Given the description of an element on the screen output the (x, y) to click on. 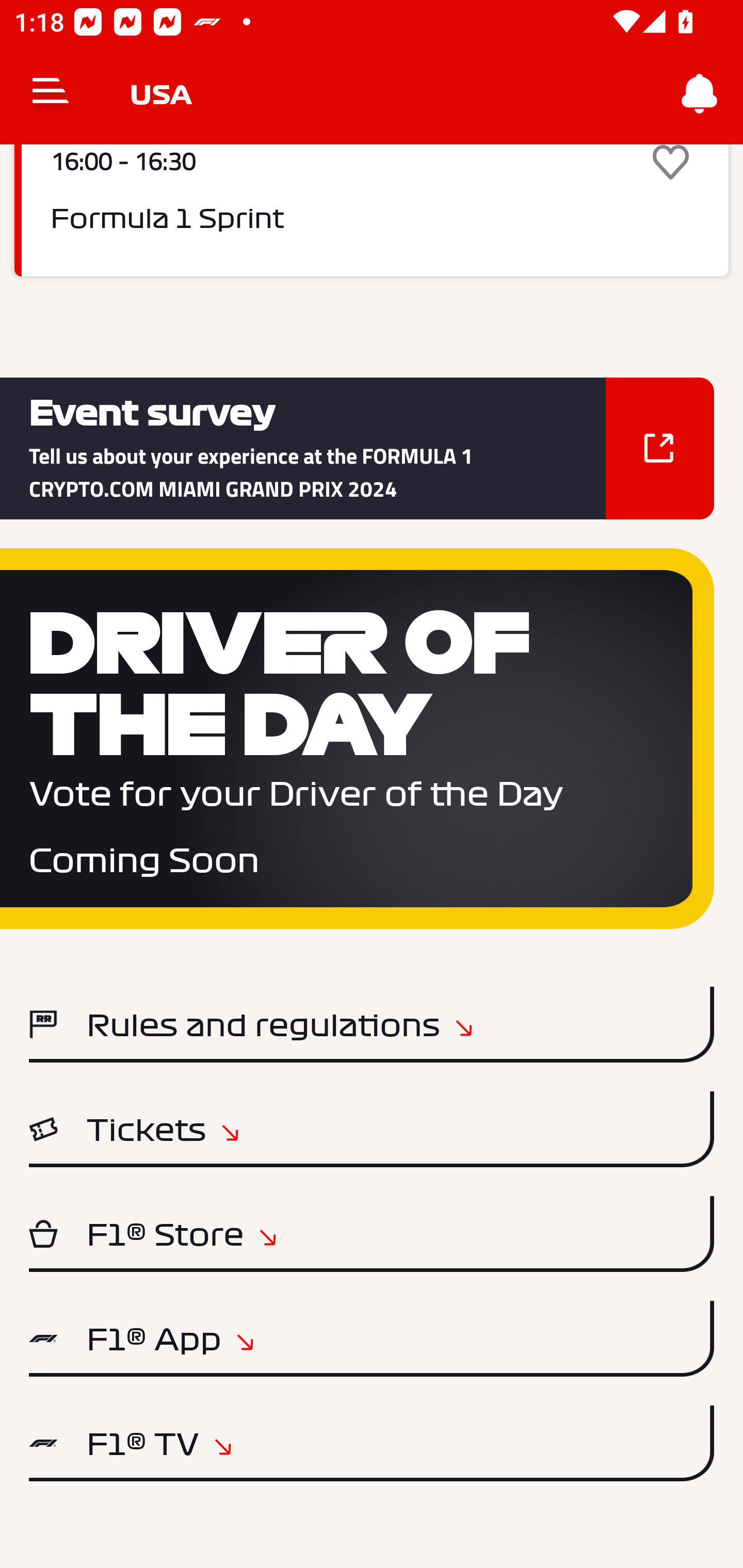
Navigate up (50, 93)
Notifications (699, 93)
16:00 - 16:30 Formula 1 Sprint (371, 209)
Rules and regulations (371, 1024)
Tickets (371, 1128)
F1® Store (371, 1233)
F1® App (371, 1338)
F1® TV (371, 1442)
